Given the description of an element on the screen output the (x, y) to click on. 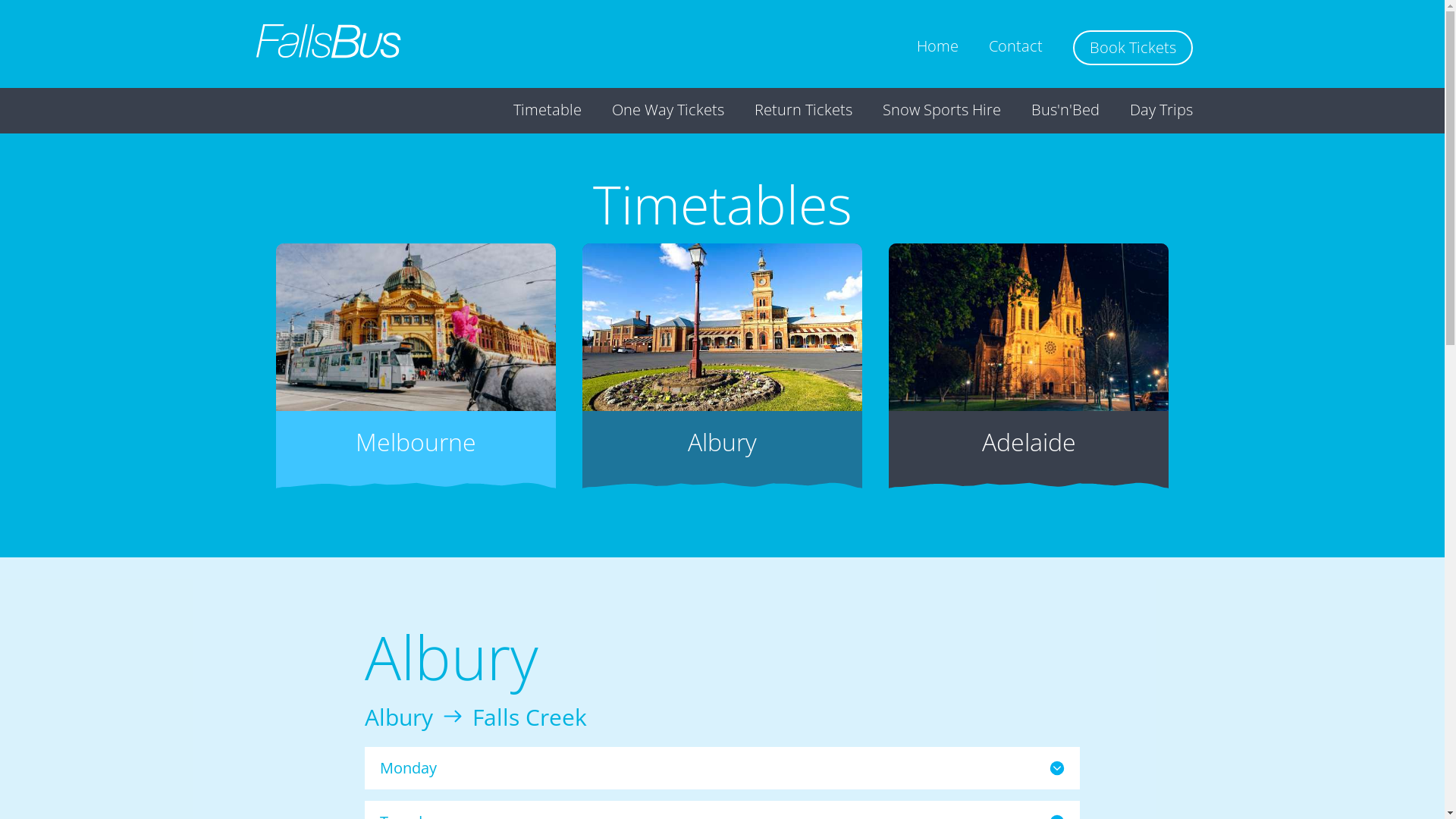
Bus'n'Bed Element type: text (1065, 109)
Day Trips Element type: text (1161, 109)
Home Element type: text (936, 46)
Adelaide Element type: text (1028, 361)
Timetable Element type: text (546, 109)
Falls Creek to Melbourne transfer snow coach service  Element type: hover (415, 327)
Snow Sports Hire Element type: text (941, 109)
Albury Element type: text (722, 361)
Book Tickets Element type: text (1131, 47)
FallsBus Logo Element type: hover (327, 40)
Contact Element type: text (1015, 46)
Falls Creek to Albury transfer snow coach service  Element type: hover (722, 327)
Falls Creek to Adelaide transfer snow coach service  Element type: hover (1028, 327)
Return Tickets Element type: text (802, 109)
Melbourne Element type: text (415, 361)
One Way Tickets Element type: text (667, 109)
